Given the description of an element on the screen output the (x, y) to click on. 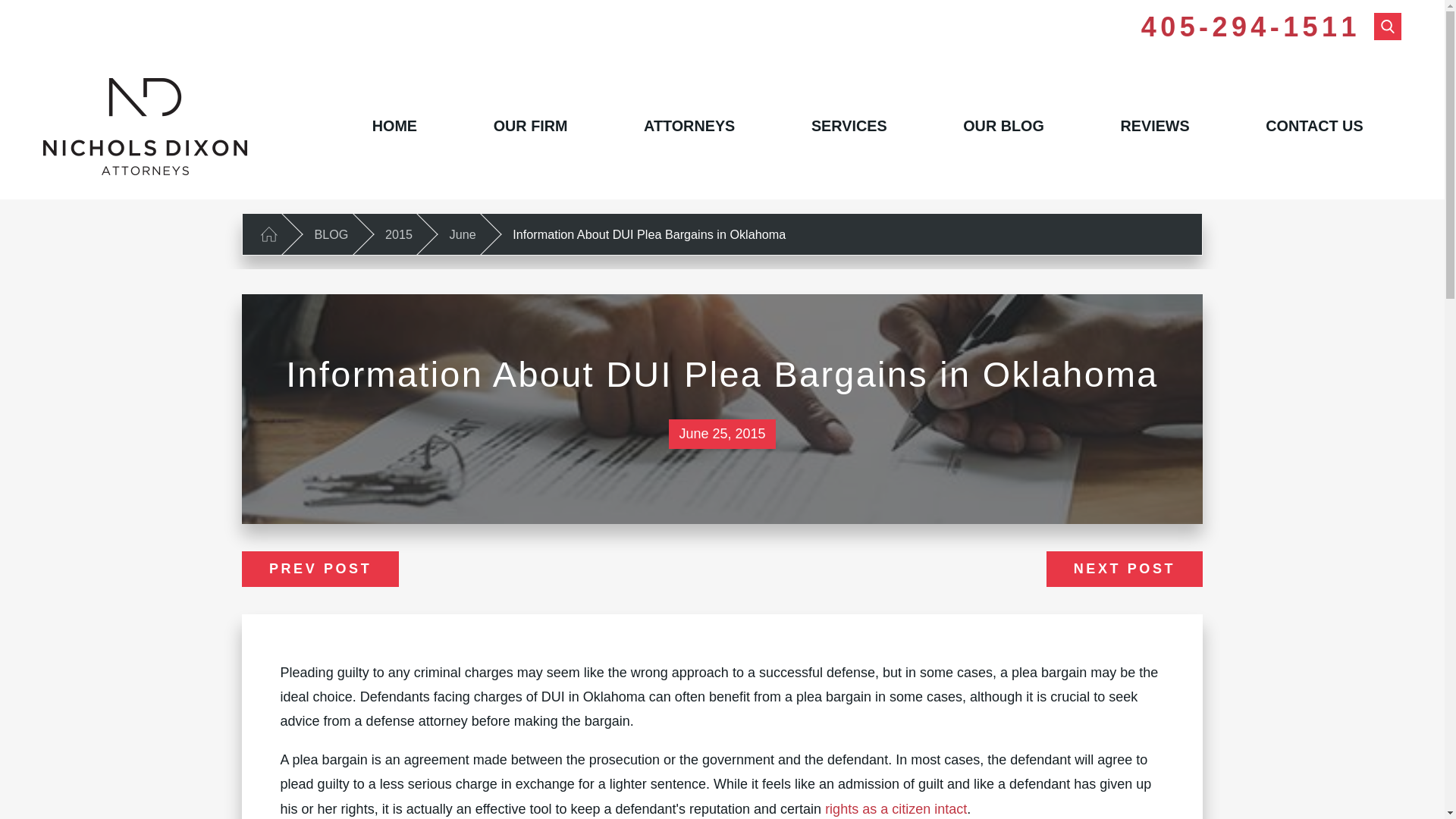
REVIEWS (1154, 126)
Go Home (269, 234)
Search Icon (1387, 26)
OUR BLOG (1002, 126)
CONTACT US (1313, 126)
Nichols Dixon PLLC (145, 126)
Search Our Site (1387, 26)
ATTORNEYS (689, 126)
OUR FIRM (529, 126)
405-294-1511 (1250, 26)
